Given the description of an element on the screen output the (x, y) to click on. 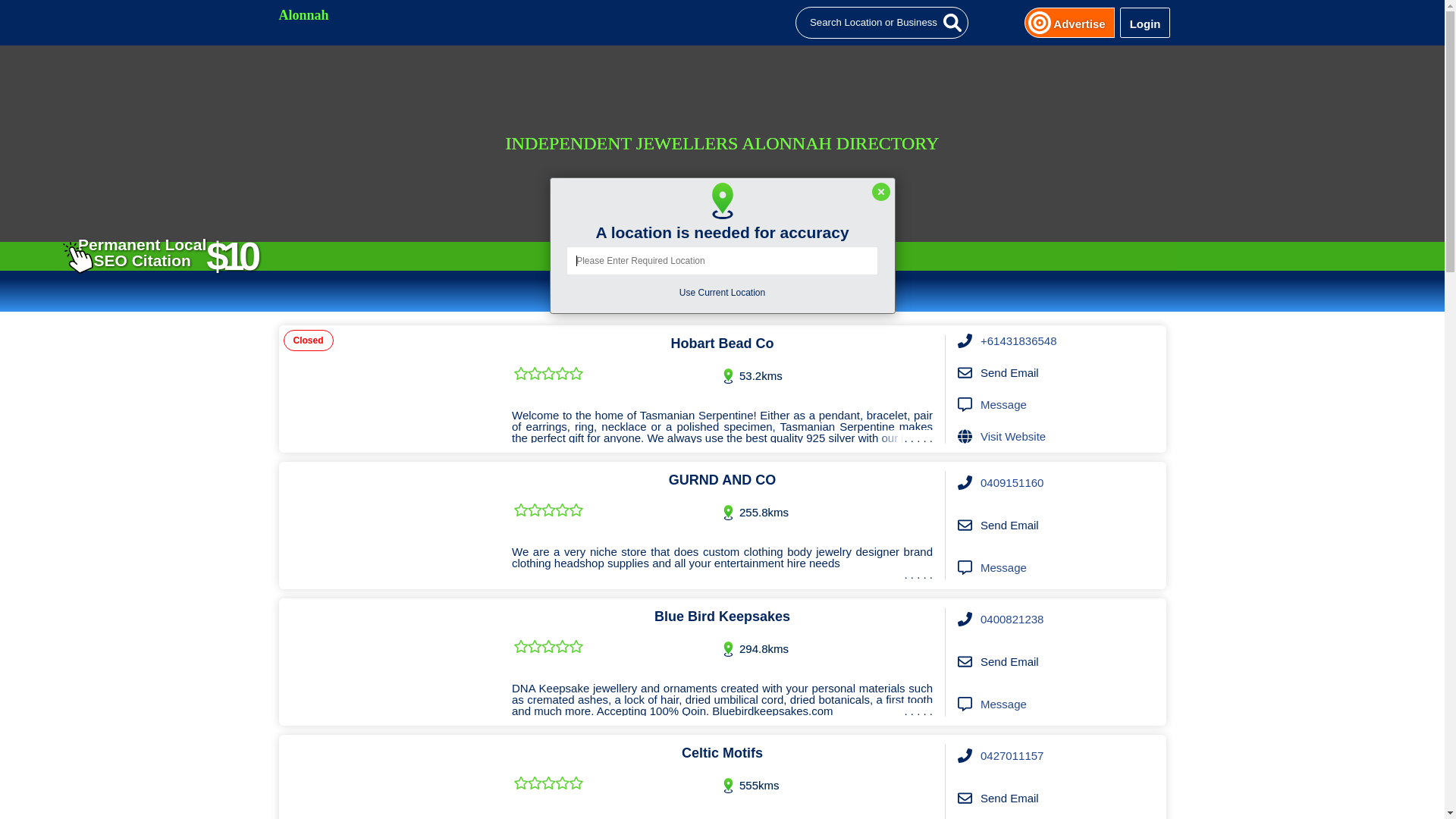
Alonnah Element type: text (723, 22)
Login Element type: text (1145, 22)
0400821238 Element type: text (1011, 619)
Visit Website Element type: text (1012, 436)
Advertise Element type: text (1078, 22)
0409151160 Element type: text (1011, 482)
Blue Bird Keepsakes Element type: hover (390, 661)
Hobart Bead Co Element type: hover (390, 388)
GURND AND CO Element type: hover (390, 525)
Message Element type: text (1003, 567)
Message Element type: text (1003, 704)
0427011157 Element type: text (1011, 755)
+61431836548 Element type: text (1018, 341)
Message Element type: text (1003, 404)
$10
Permanent Local
SEO Citation Element type: text (162, 253)
